Given the description of an element on the screen output the (x, y) to click on. 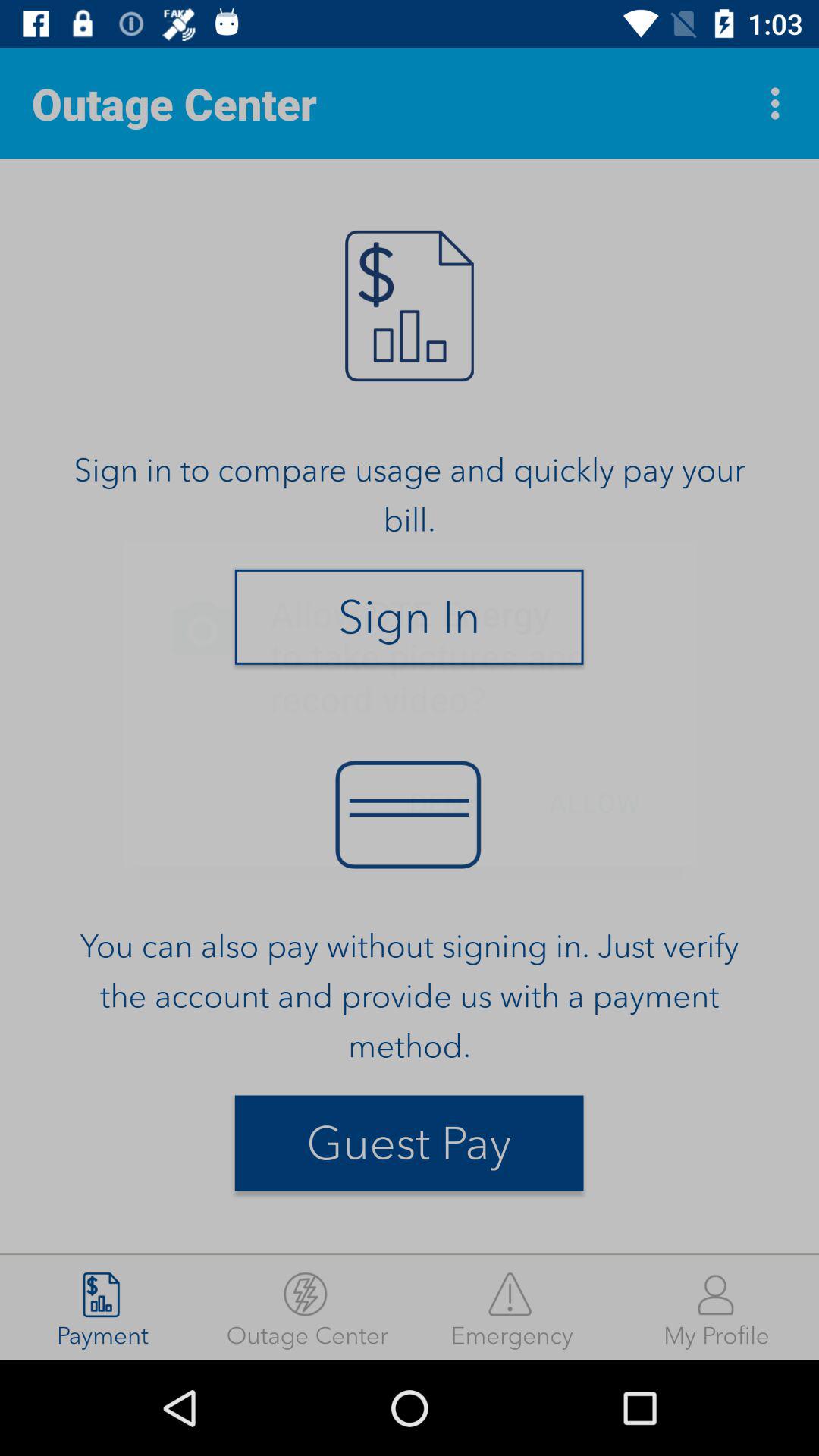
swipe until guest pay (408, 1142)
